Given the description of an element on the screen output the (x, y) to click on. 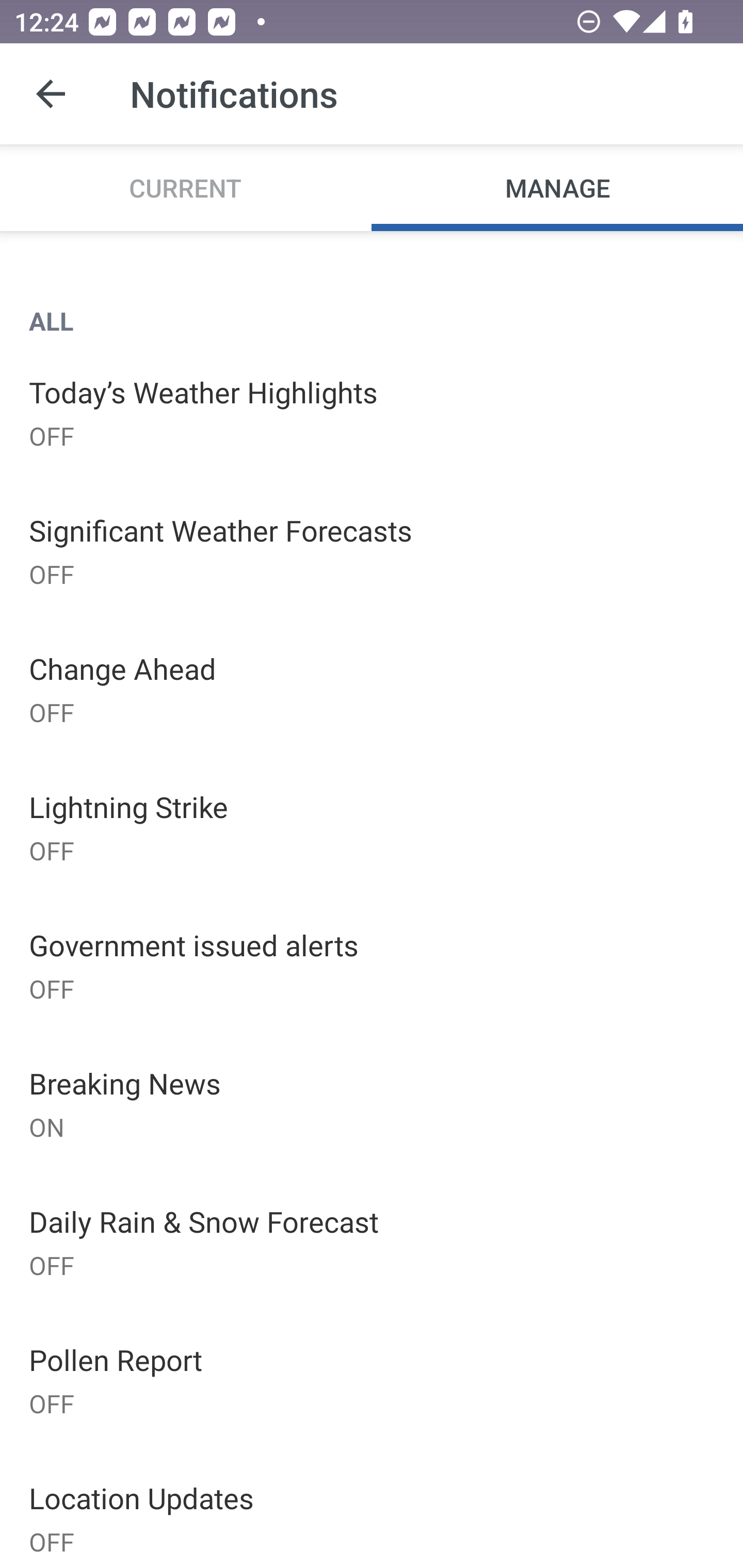
Navigate up (50, 93)
Current Tab CURRENT (185, 187)
Today’s Weather Highlights OFF (371, 412)
Significant Weather Forecasts OFF (371, 550)
Change Ahead OFF (371, 688)
Lightning Strike OFF (371, 827)
Government issued alerts OFF (371, 965)
Breaking News ON (371, 1103)
Daily Rain & Snow Forecast OFF (371, 1241)
Pollen Report OFF (371, 1379)
Location Updates OFF (371, 1508)
